Given the description of an element on the screen output the (x, y) to click on. 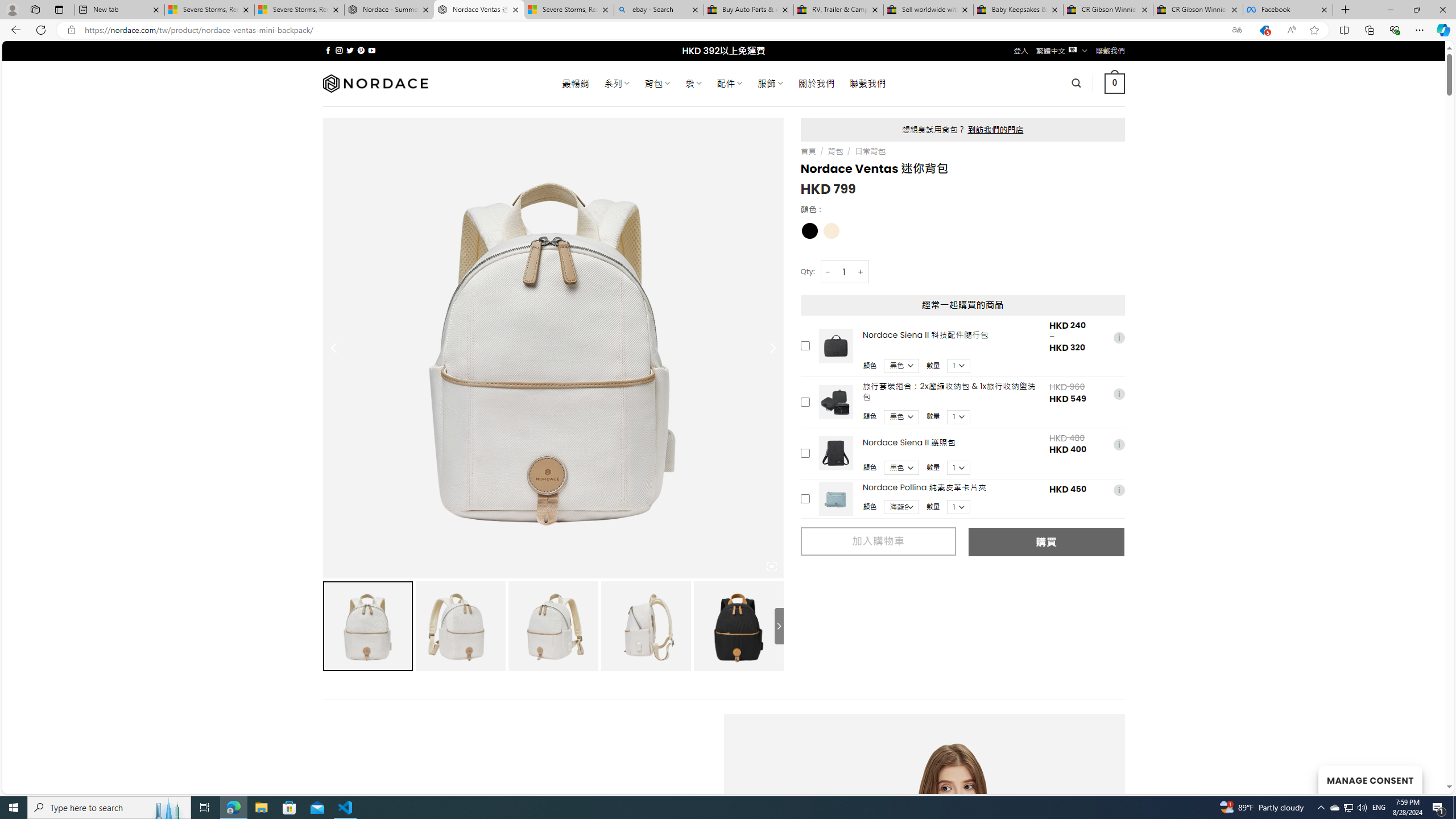
  0   (1115, 83)
Follow on Pinterest (360, 50)
MANAGE CONSENT (1369, 779)
Baby Keepsakes & Announcements for sale | eBay (1018, 9)
